Given the description of an element on the screen output the (x, y) to click on. 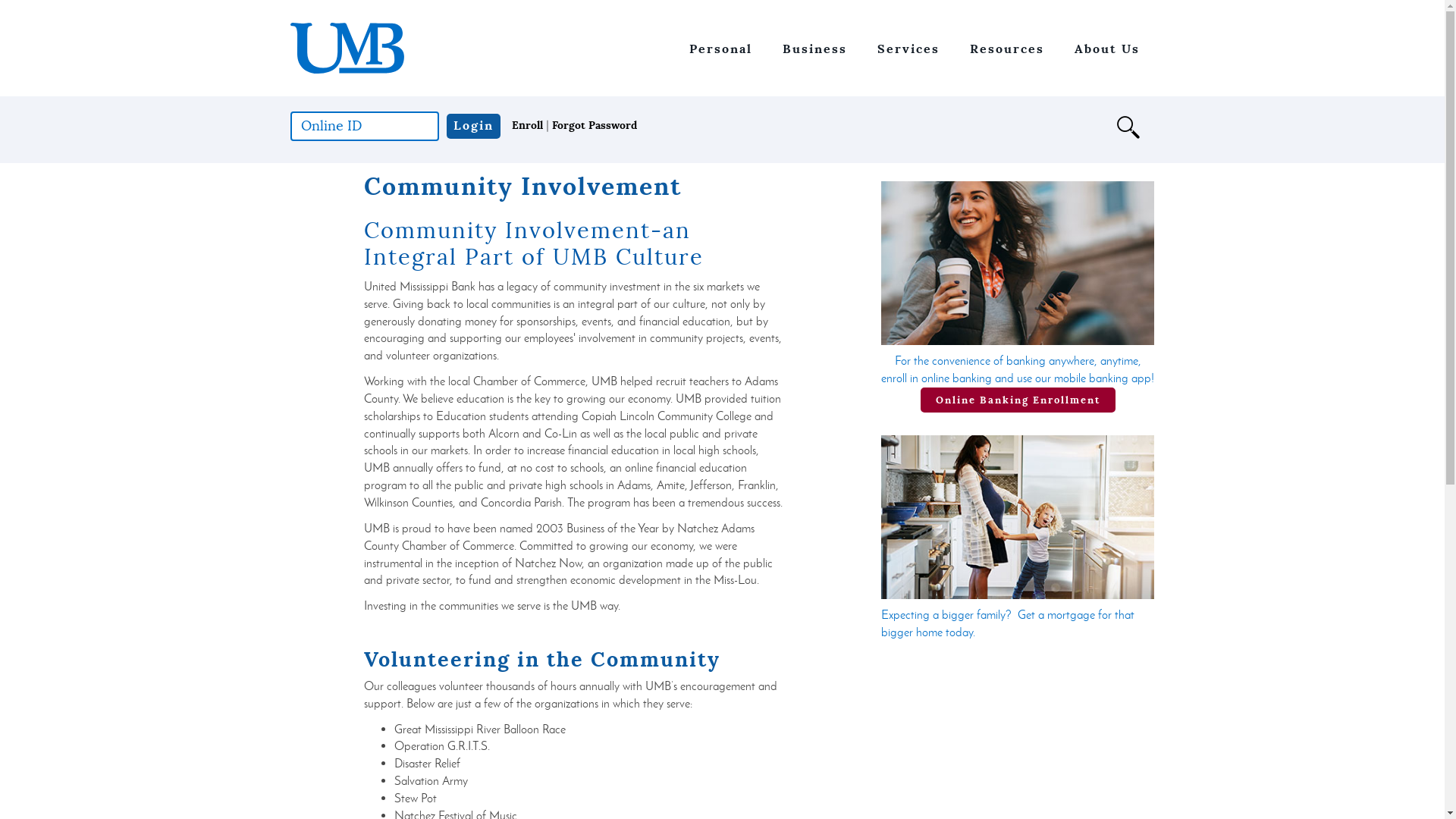
Forgot Password Element type: text (594, 124)
Login Element type: text (472, 125)
Online Banking Enrollment Element type: text (1017, 400)
United Mississippi Bank, Natchez, MS Element type: hover (346, 48)
Enroll Element type: text (526, 124)
